Given the description of an element on the screen output the (x, y) to click on. 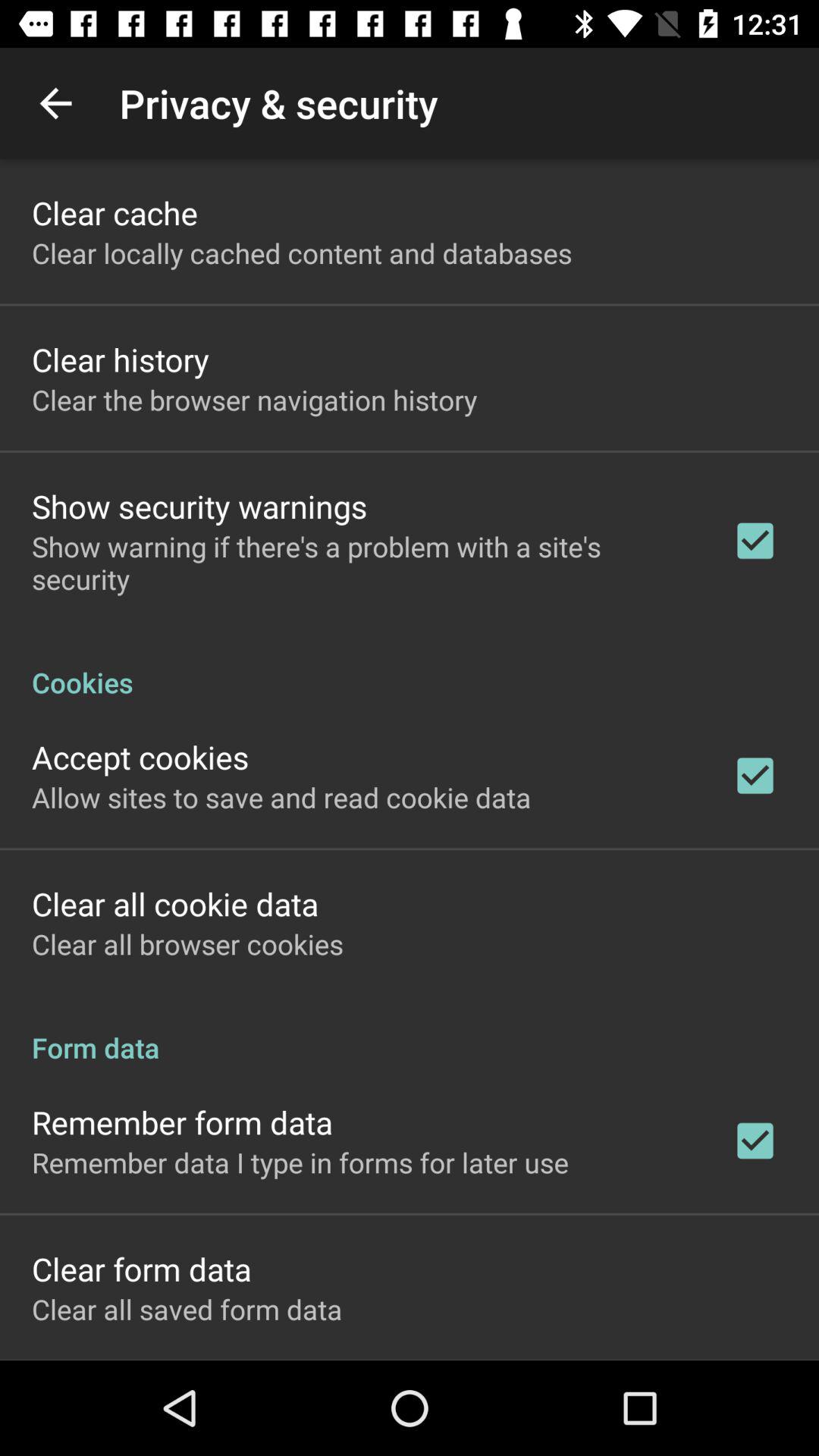
press the clear locally cached icon (301, 252)
